Given the description of an element on the screen output the (x, y) to click on. 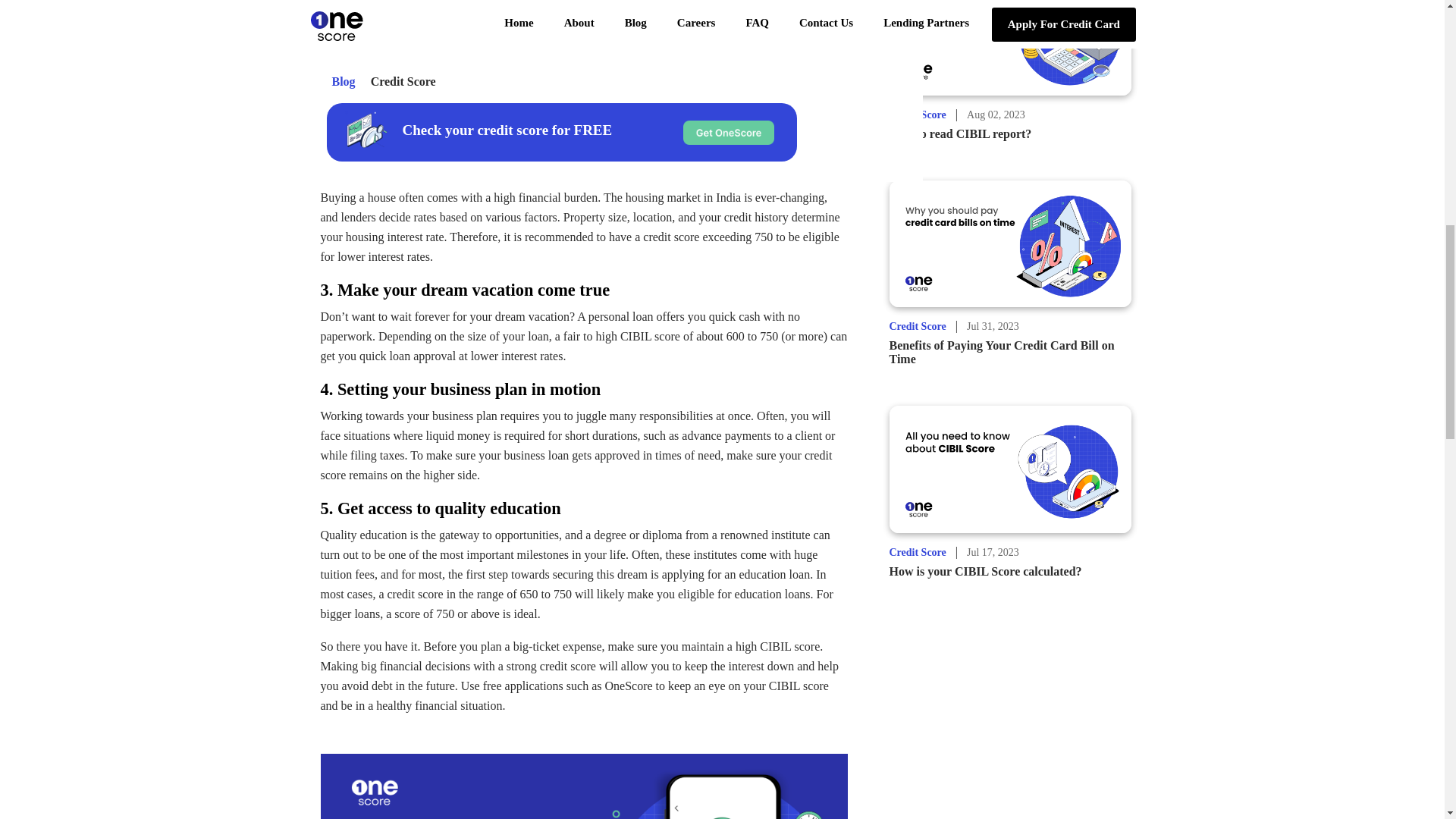
How is your CIBIL Score calculated? (984, 571)
Benefits of Paying Your Credit Card Bill on Time (1000, 352)
How to read CIBIL report? (959, 133)
